Given the description of an element on the screen output the (x, y) to click on. 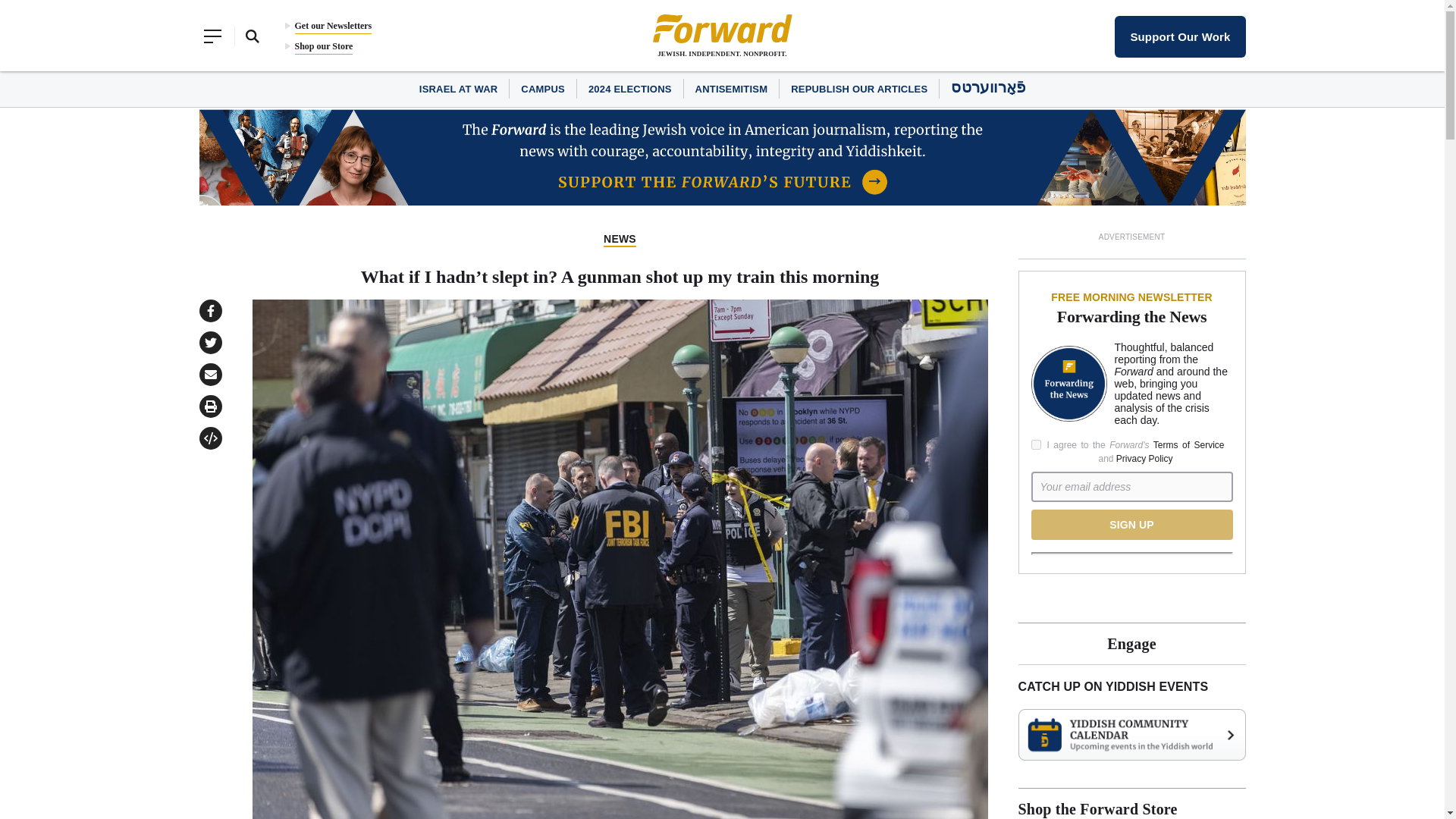
ISRAEL AT WAR (458, 89)
2024 ELECTIONS (629, 89)
CAMPUS (542, 89)
Get our Newsletters (332, 26)
Sign Up (1131, 524)
Shop our Store (323, 46)
Yes (1035, 444)
Support Our Work (1179, 35)
Click to open publish popup (209, 437)
